Given the description of an element on the screen output the (x, y) to click on. 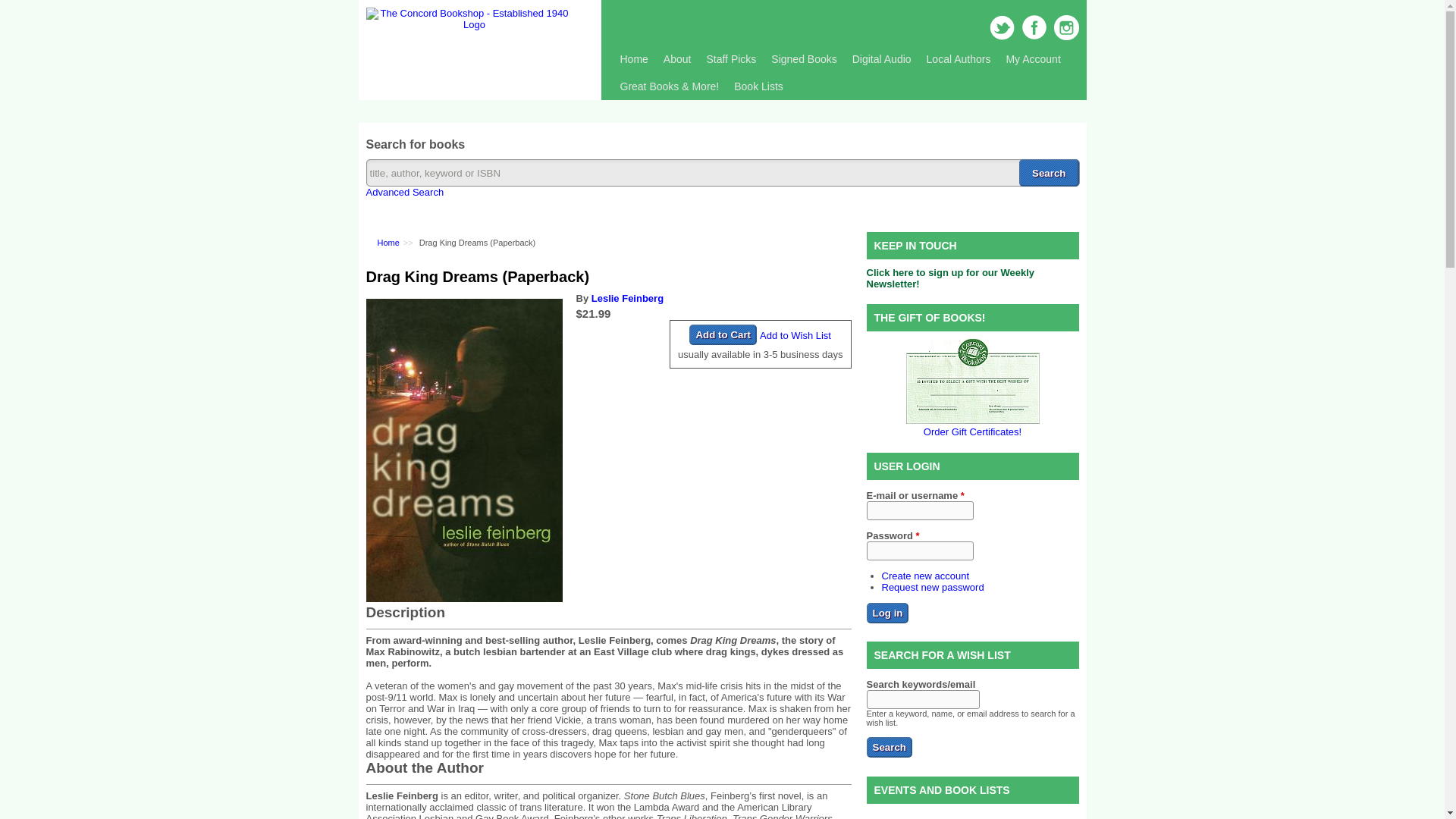
My Account (1032, 58)
About (677, 58)
Request new password via e-mail. (932, 586)
Local Authors (958, 58)
Book Lists (758, 85)
Create a new user account. (924, 575)
Home (467, 24)
Search (1048, 172)
Add to Cart (722, 334)
Enter the terms you wish to search for. (721, 172)
Signed Books (803, 58)
Home (634, 58)
Digital Audio (881, 58)
Staff Picks (730, 58)
Search (888, 747)
